Given the description of an element on the screen output the (x, y) to click on. 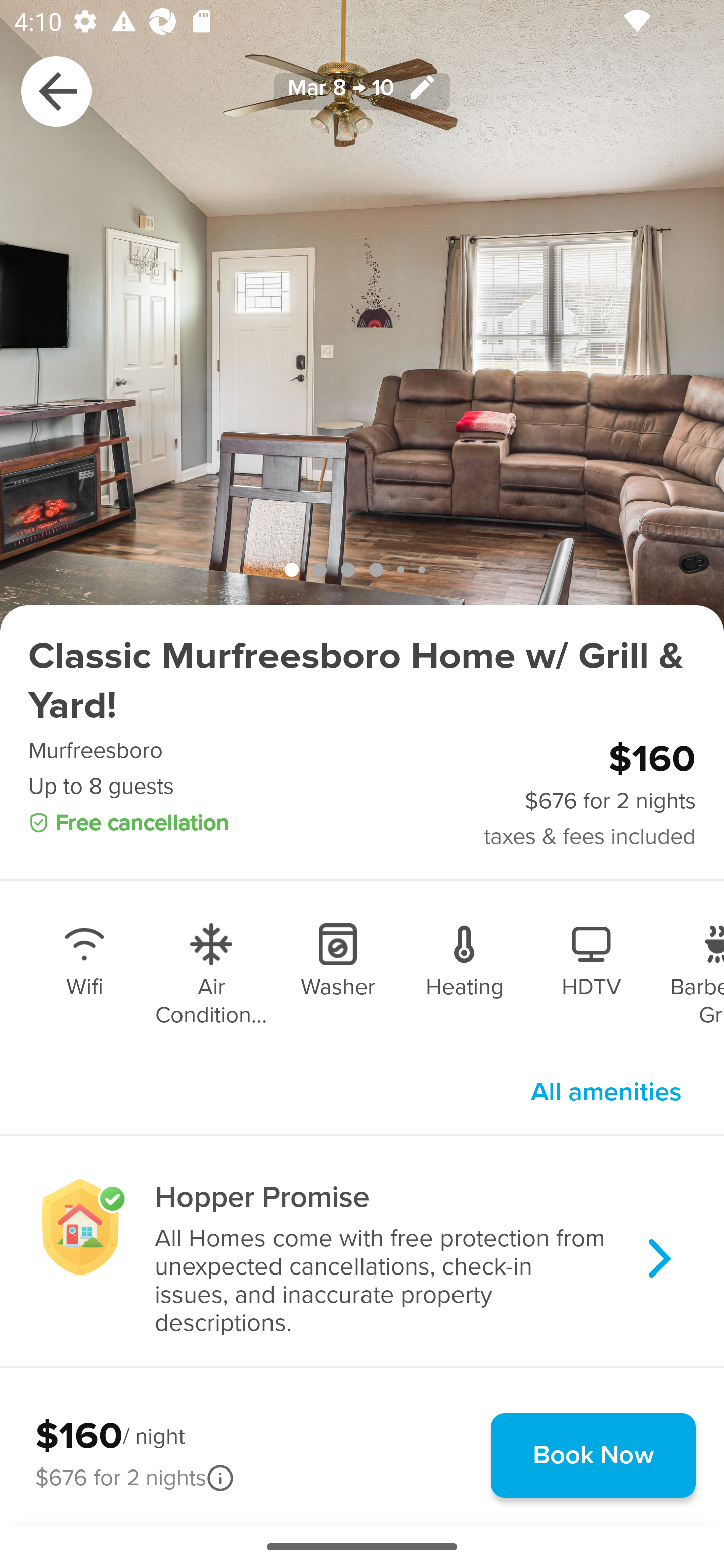
Mar 8 → 10 (361, 90)
Classic Murfreesboro Home w/ Grill & Yard! (361, 681)
All amenities (606, 1091)
Book Now (592, 1454)
